Given the description of an element on the screen output the (x, y) to click on. 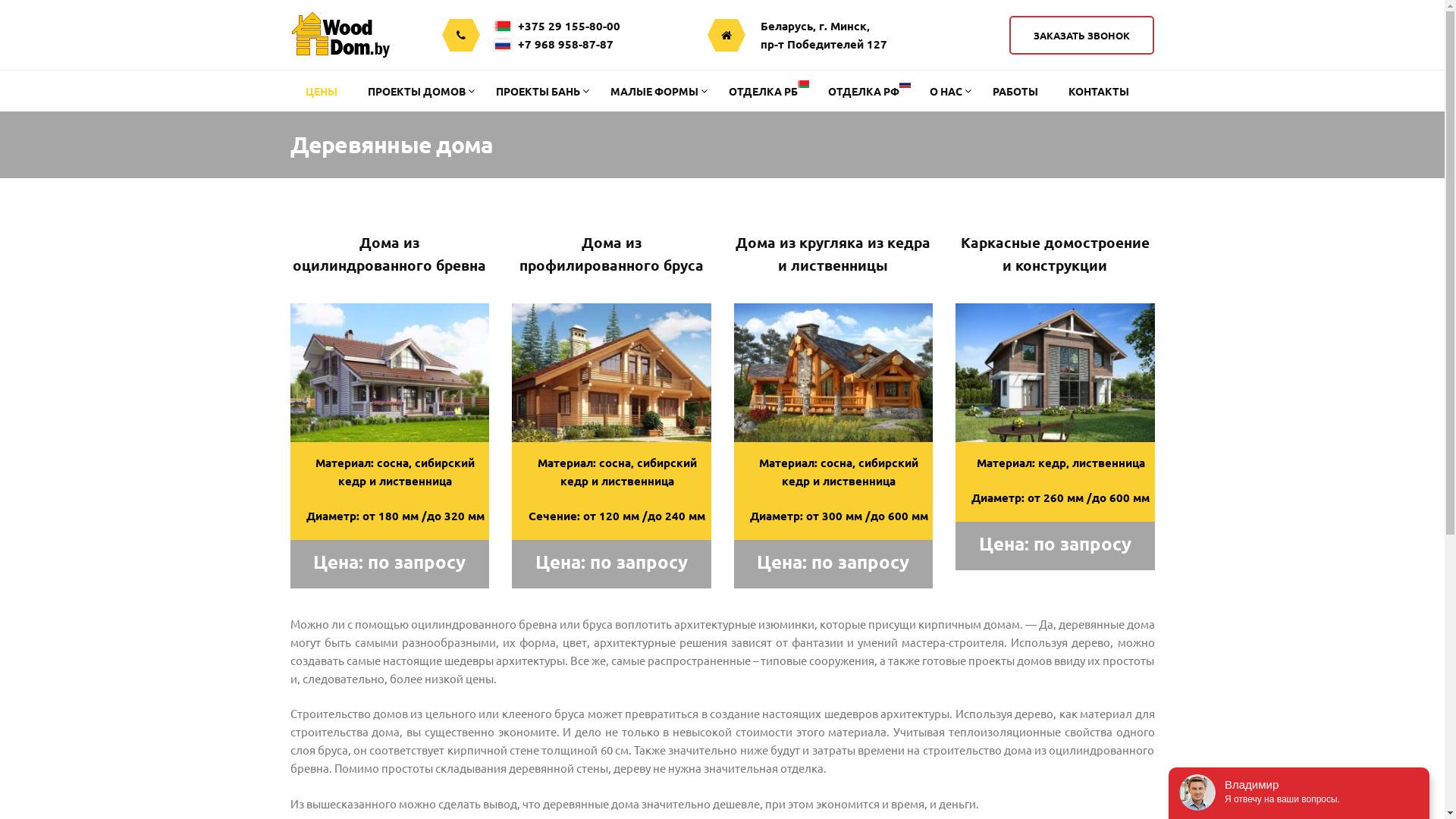
+375 29 155-80-00 Element type: text (556, 25)
+7 968 958-87-87 Element type: text (556, 43)
